Given the description of an element on the screen output the (x, y) to click on. 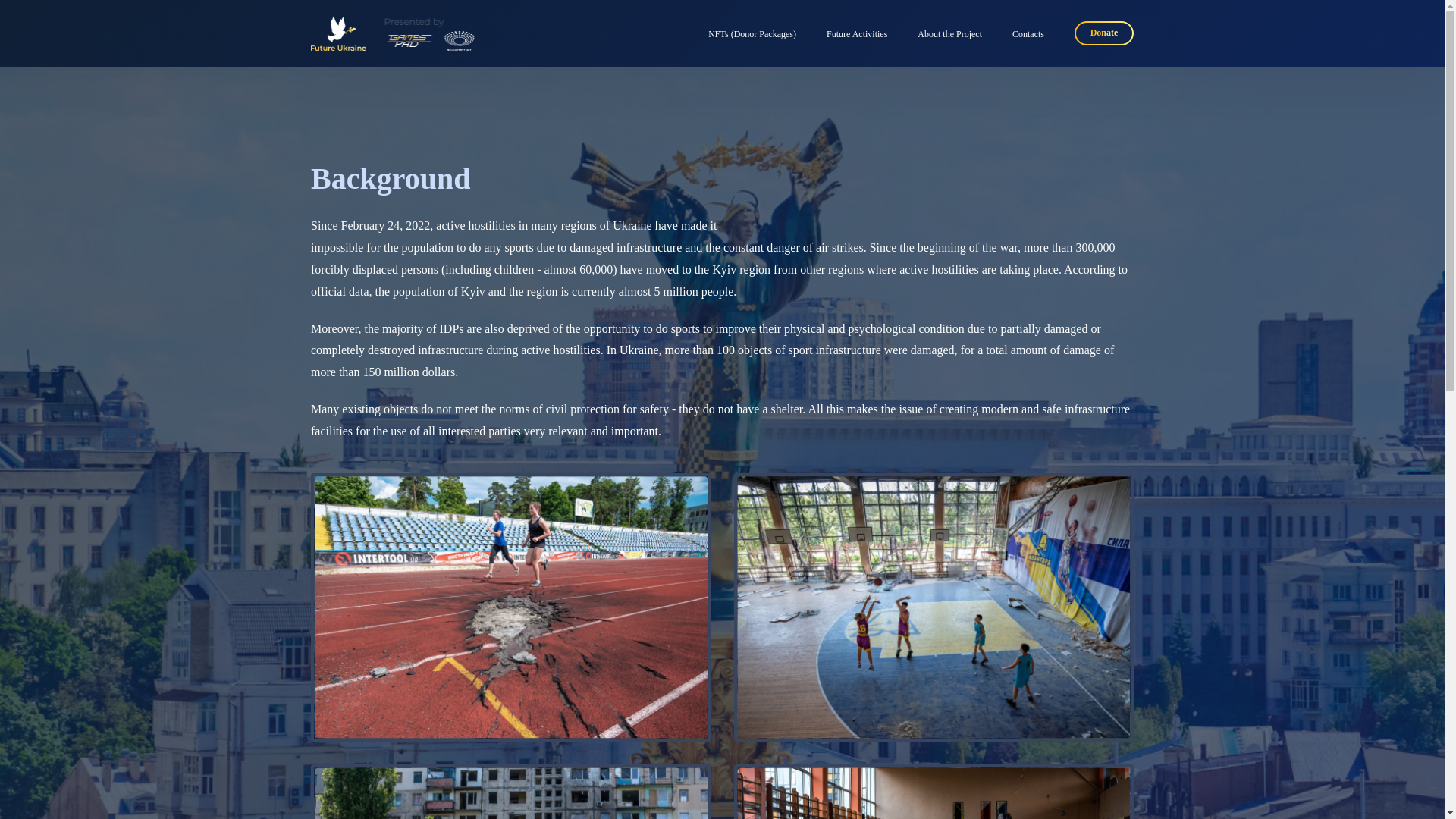
Contacts (1027, 34)
Future Activities (856, 34)
Donate (1104, 33)
About the Project (949, 34)
